Given the description of an element on the screen output the (x, y) to click on. 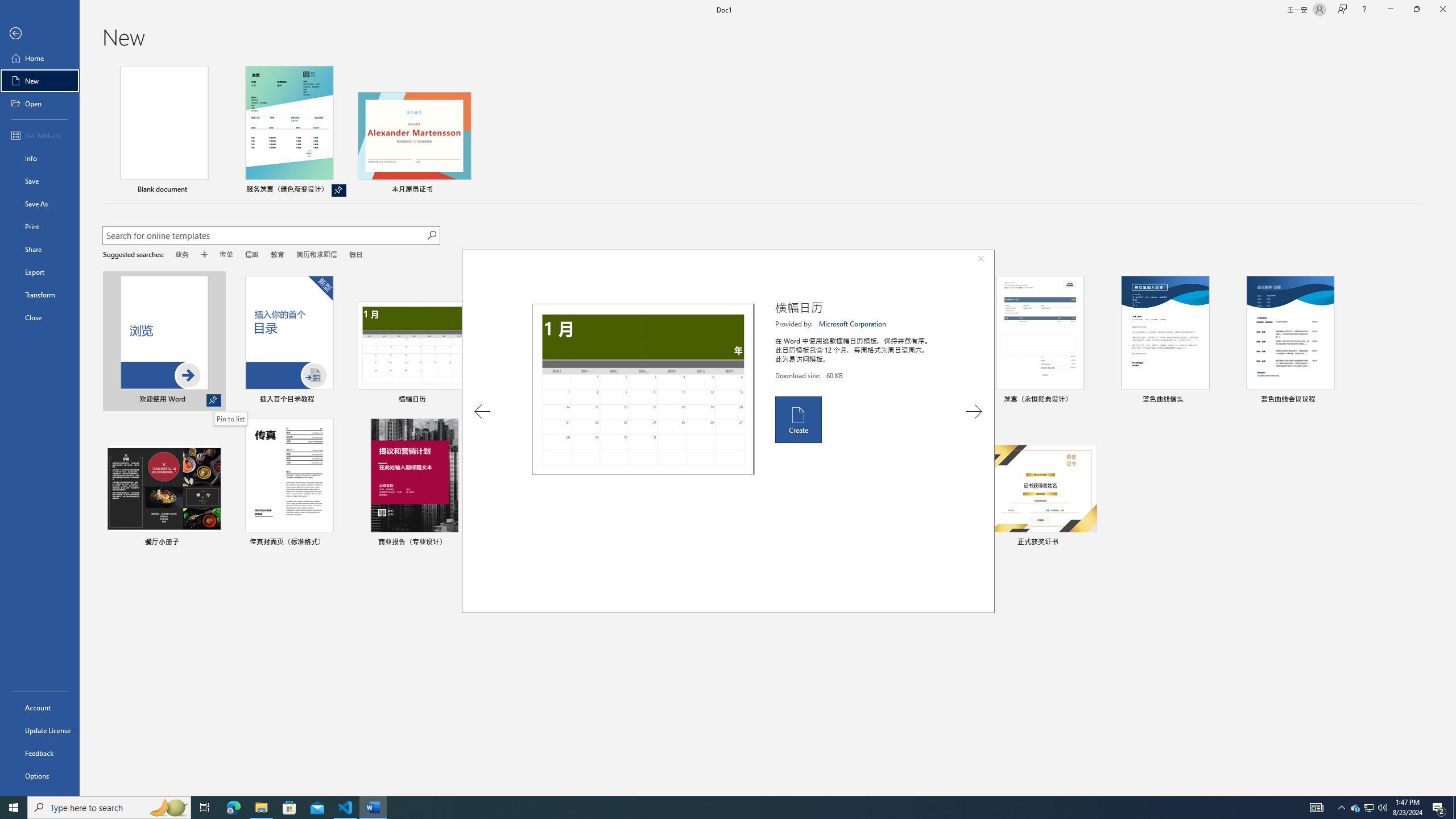
Export (40, 271)
Unpin from list (338, 190)
Microsoft Corporation (853, 323)
Start searching (431, 235)
Print (40, 225)
